Given the description of an element on the screen output the (x, y) to click on. 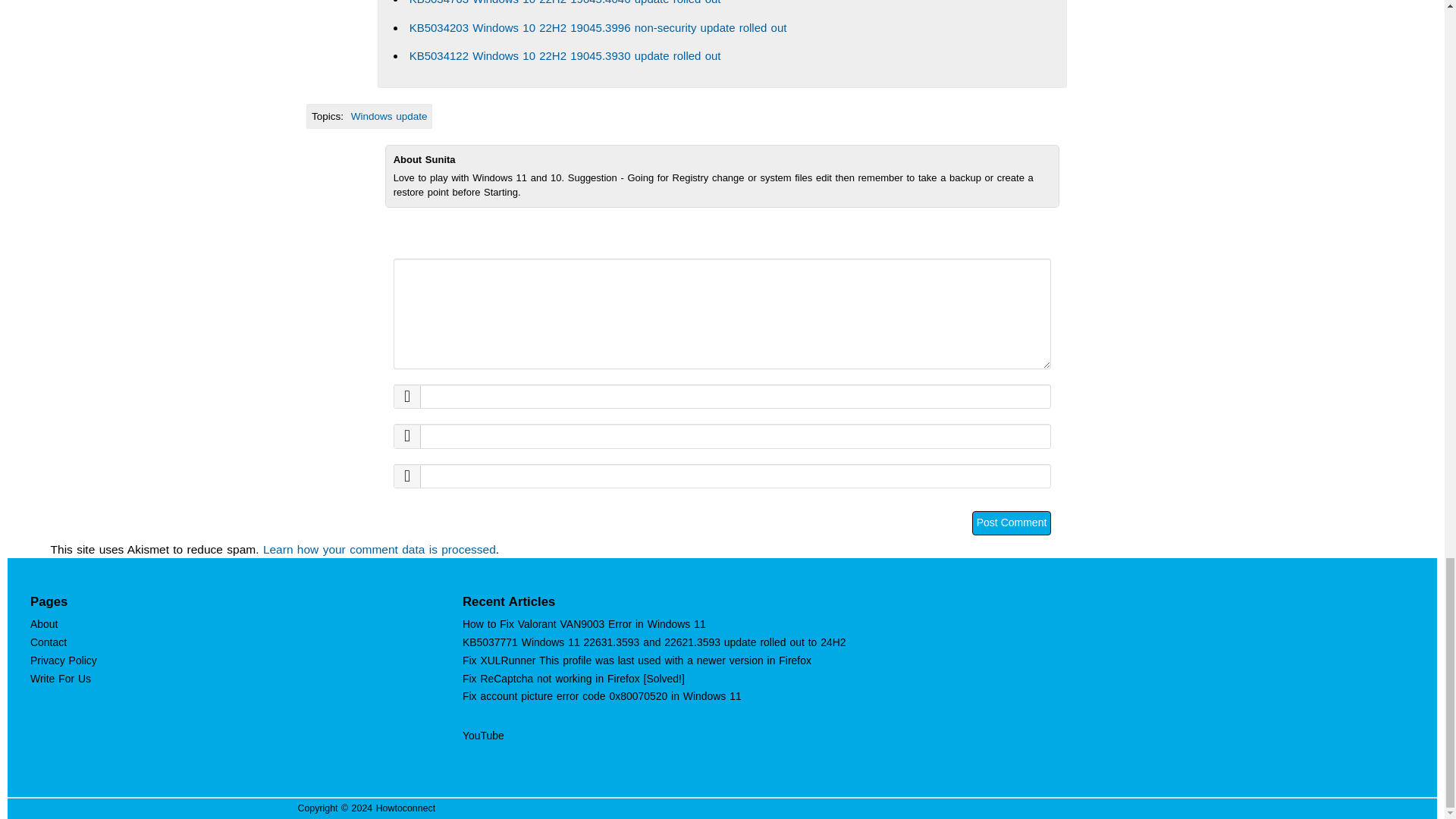
About (44, 623)
How to Fix Valorant VAN9003 Error in Windows 11 (584, 623)
KB5034763 Windows 10 22H2 19045.4046 update rolled out (564, 2)
Post Comment (1011, 523)
Post Comment (1011, 523)
Fix account picture error code 0x80070520 in Windows 11 (602, 695)
Windows update (389, 116)
Write For Us (60, 678)
Privacy Policy (63, 660)
Learn how your comment data is processed (379, 549)
KB5034122 Windows 10 22H2 19045.3930 update rolled out (564, 55)
YouTube (483, 735)
